Given the description of an element on the screen output the (x, y) to click on. 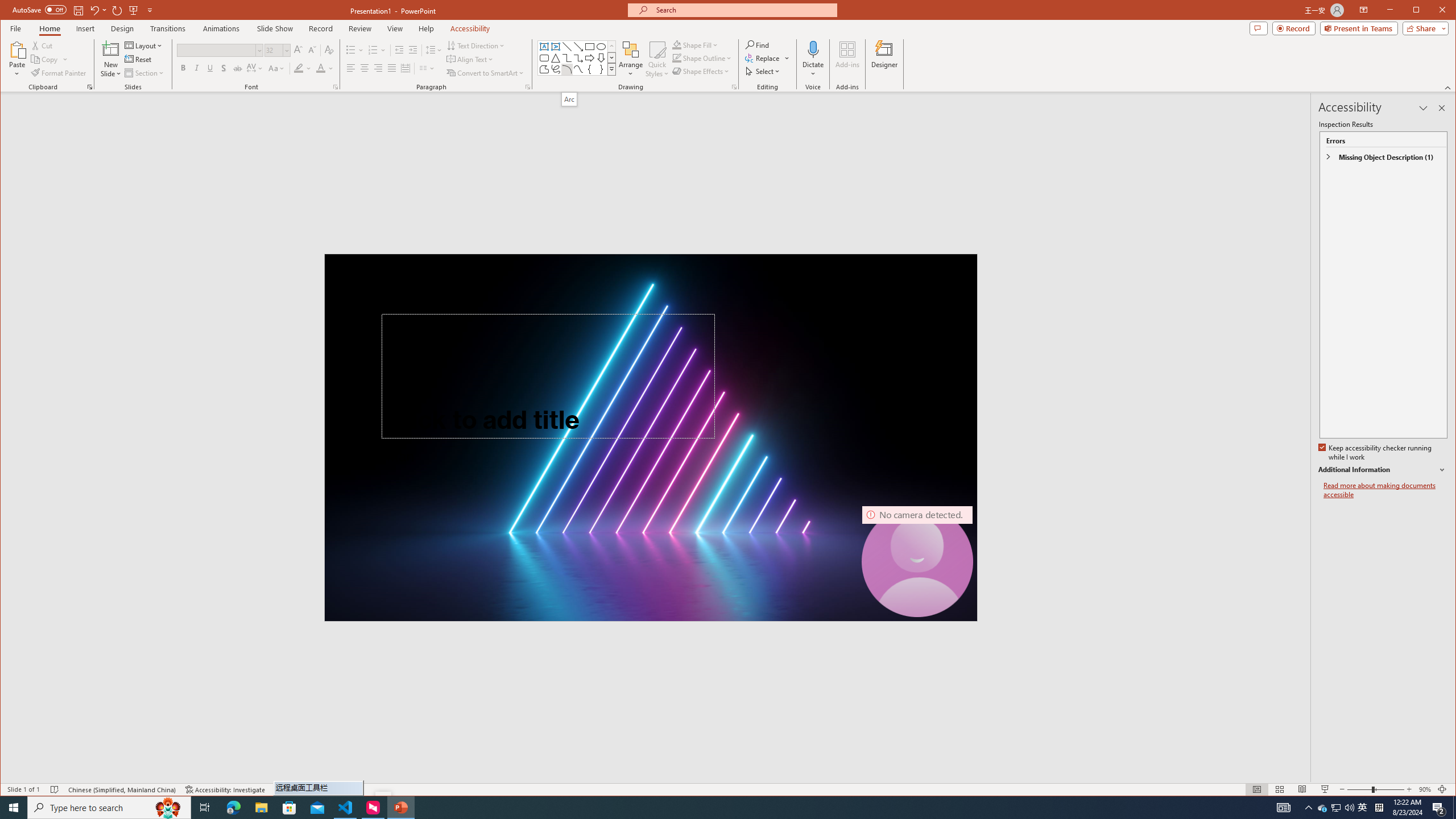
Neon laser lights aligned to form a triangle (650, 436)
